Given the description of an element on the screen output the (x, y) to click on. 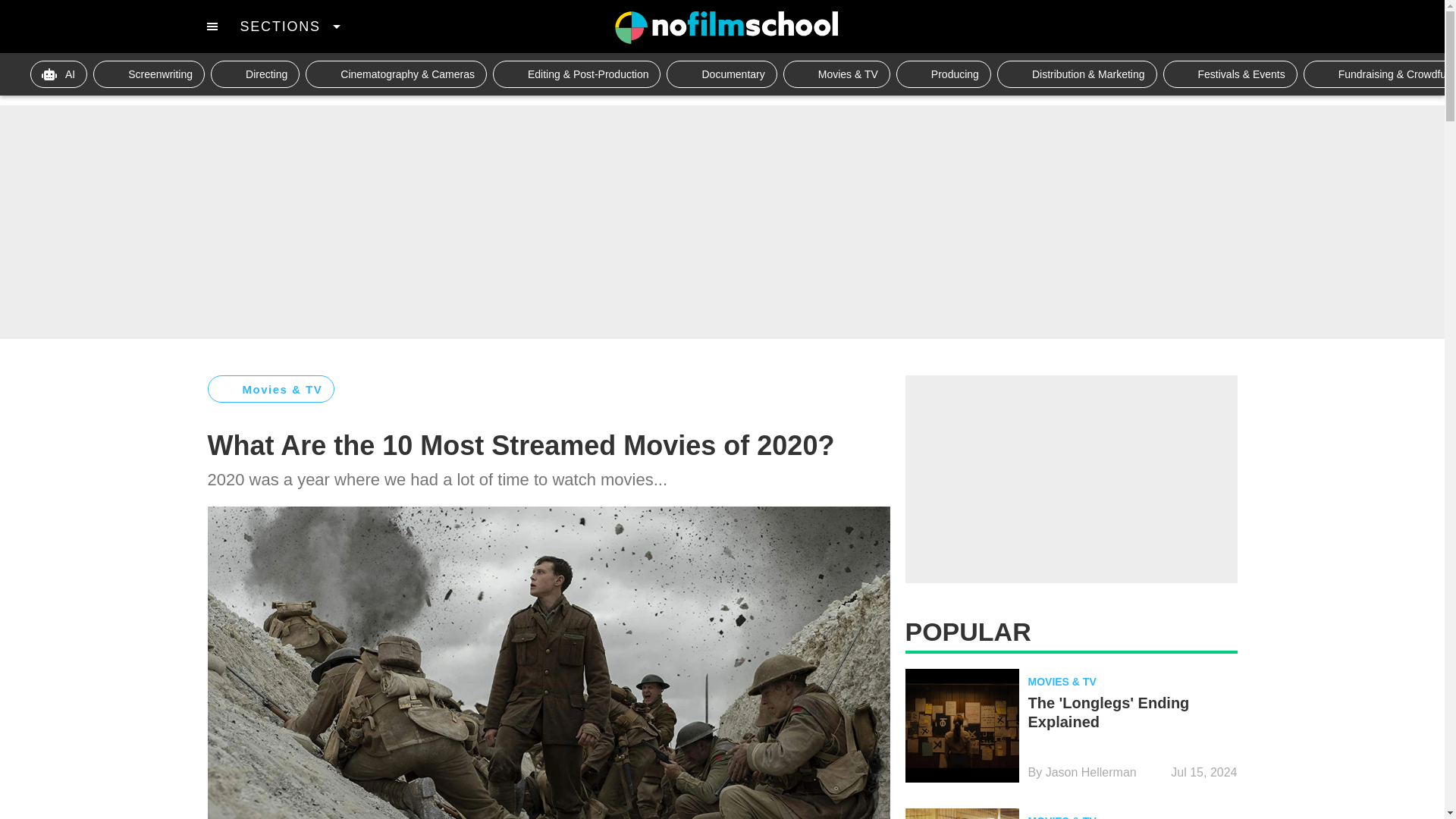
Directing (255, 73)
AI (58, 73)
Screenwriting (149, 73)
Documentary (721, 73)
SECTIONS (289, 26)
Producing (943, 73)
NO FILM SCHOOL (725, 27)
NO FILM SCHOOL (725, 27)
